Given the description of an element on the screen output the (x, y) to click on. 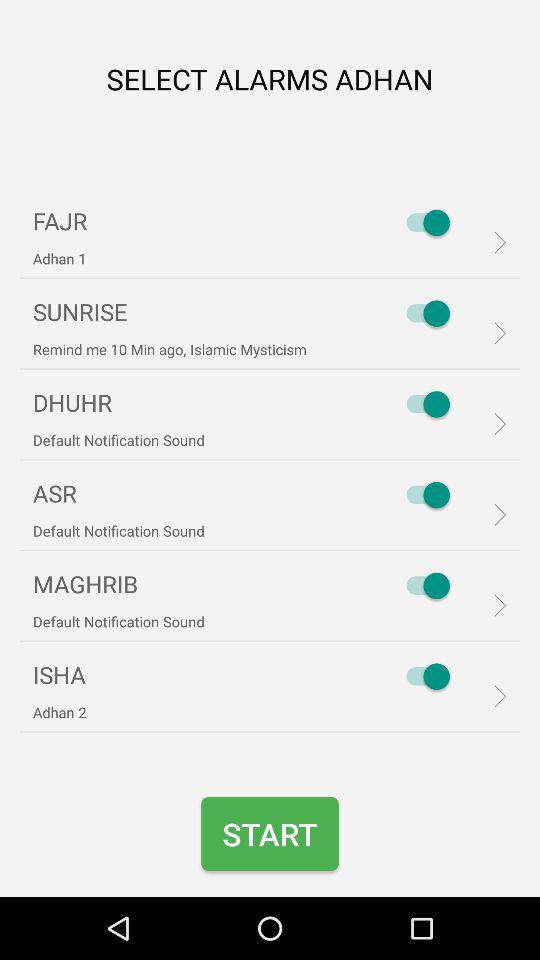
click the item next to the default notification sound item (423, 495)
